Given the description of an element on the screen output the (x, y) to click on. 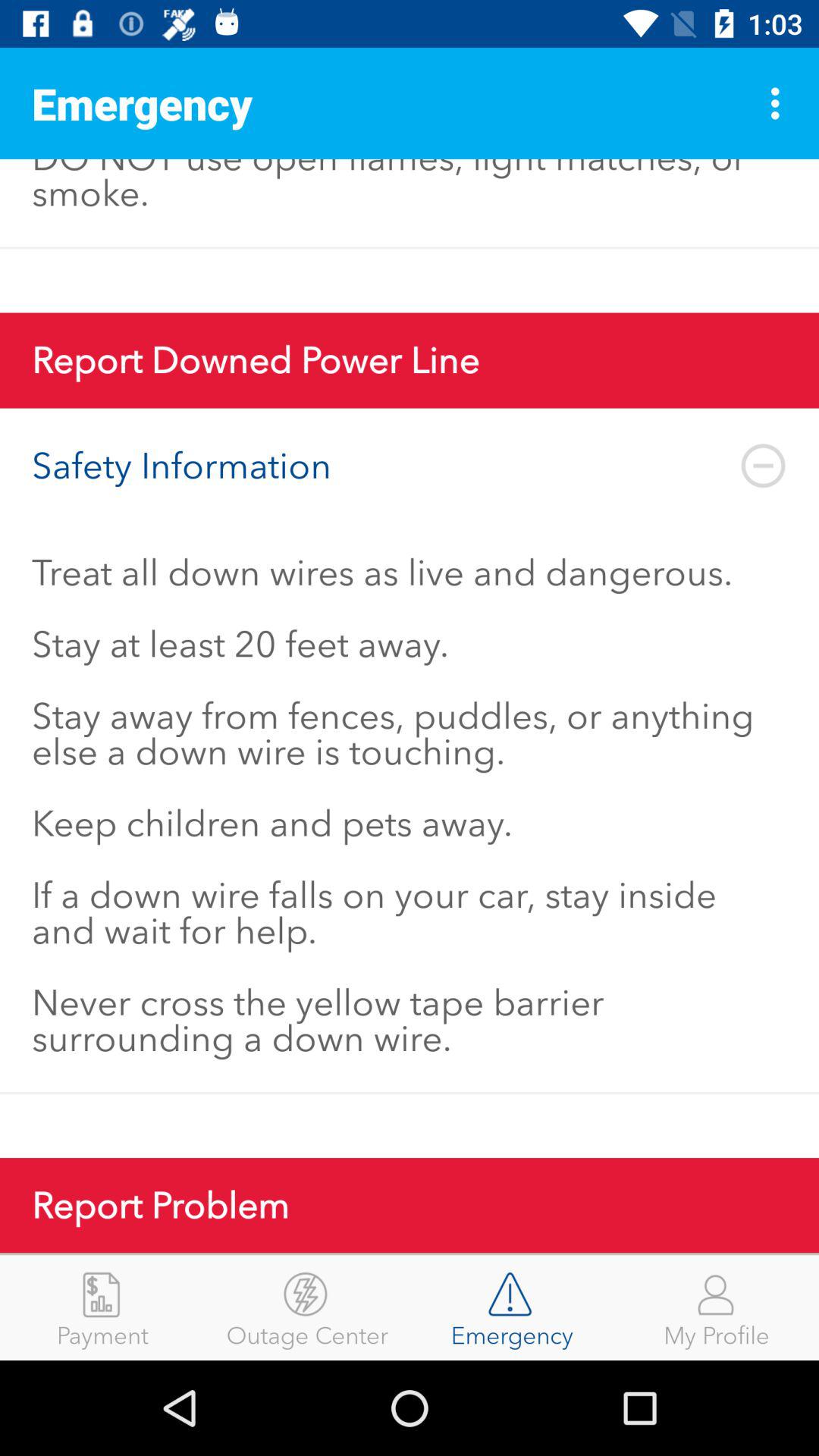
open report downed power item (409, 360)
